Given the description of an element on the screen output the (x, y) to click on. 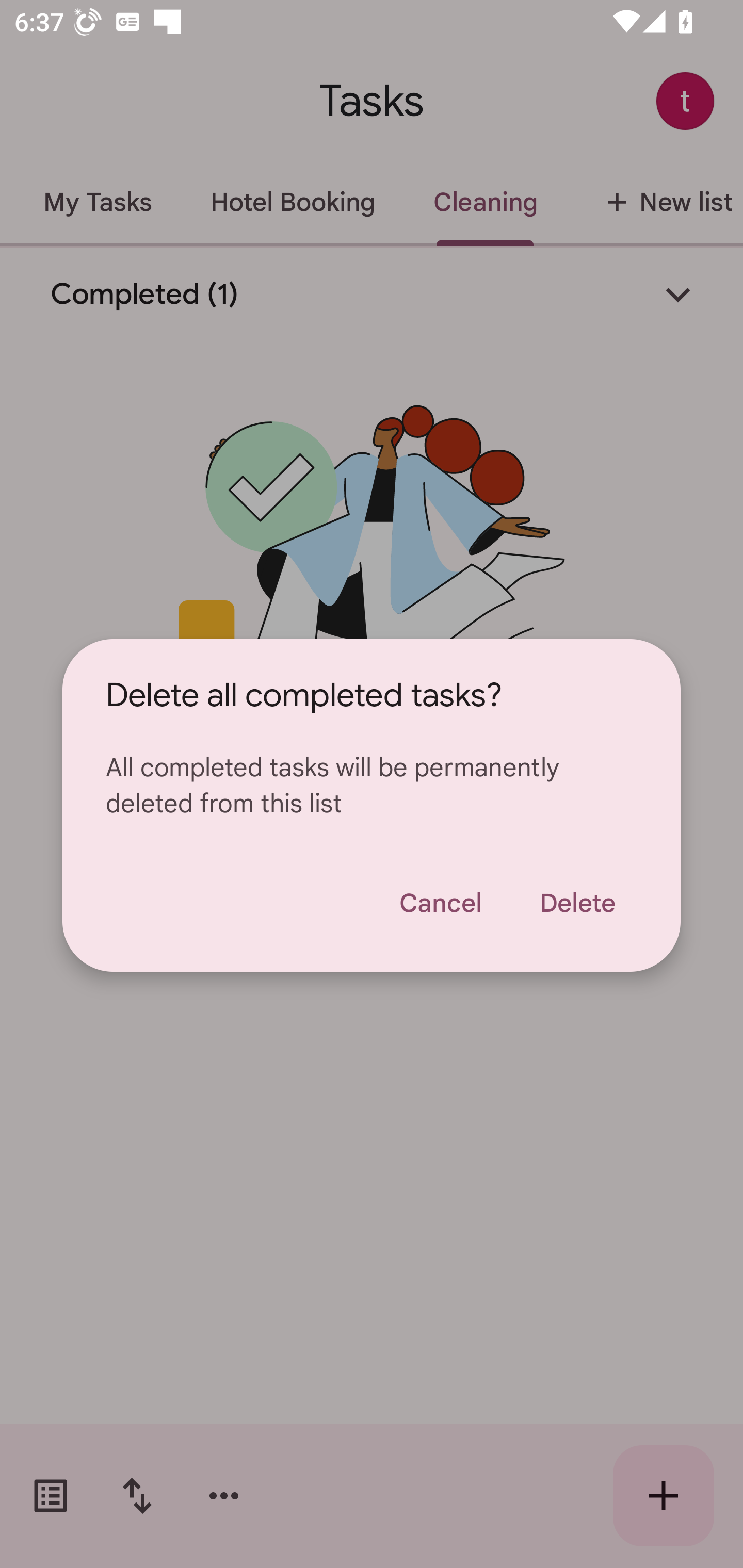
Cancel (440, 903)
Delete (577, 903)
